Given the description of an element on the screen output the (x, y) to click on. 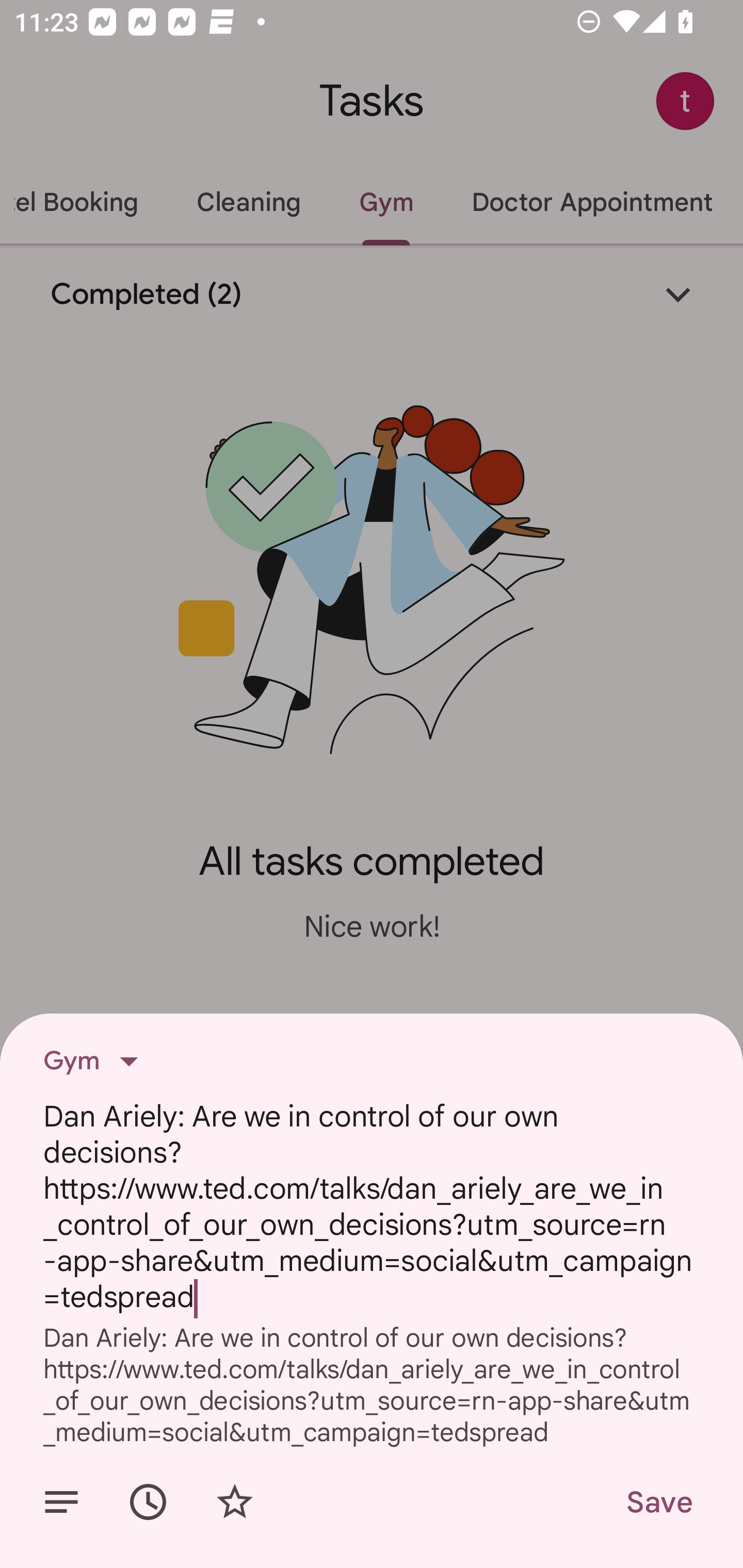
Gym List, Gym selected, 1 of 6 (96, 1061)
Save (659, 1501)
Add details (60, 1501)
Set date/time (147, 1501)
Add star (234, 1501)
